Given the description of an element on the screen output the (x, y) to click on. 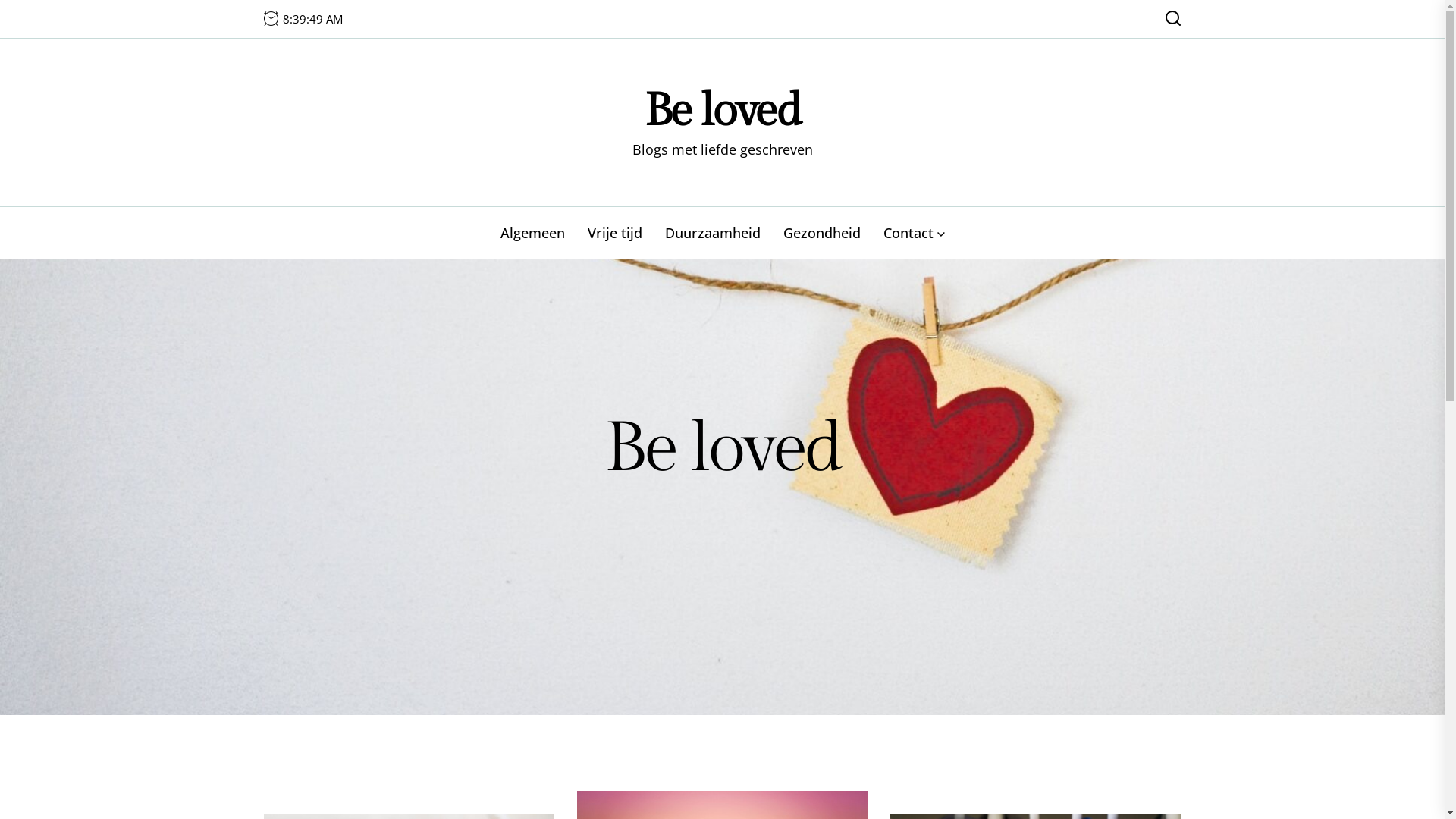
Contact Element type: text (914, 233)
Algemeen Element type: text (531, 233)
Vrije tijd Element type: text (614, 233)
Be loved Element type: text (722, 111)
Duurzaamheid Element type: text (712, 233)
Gezondheid Element type: text (821, 233)
